Given the description of an element on the screen output the (x, y) to click on. 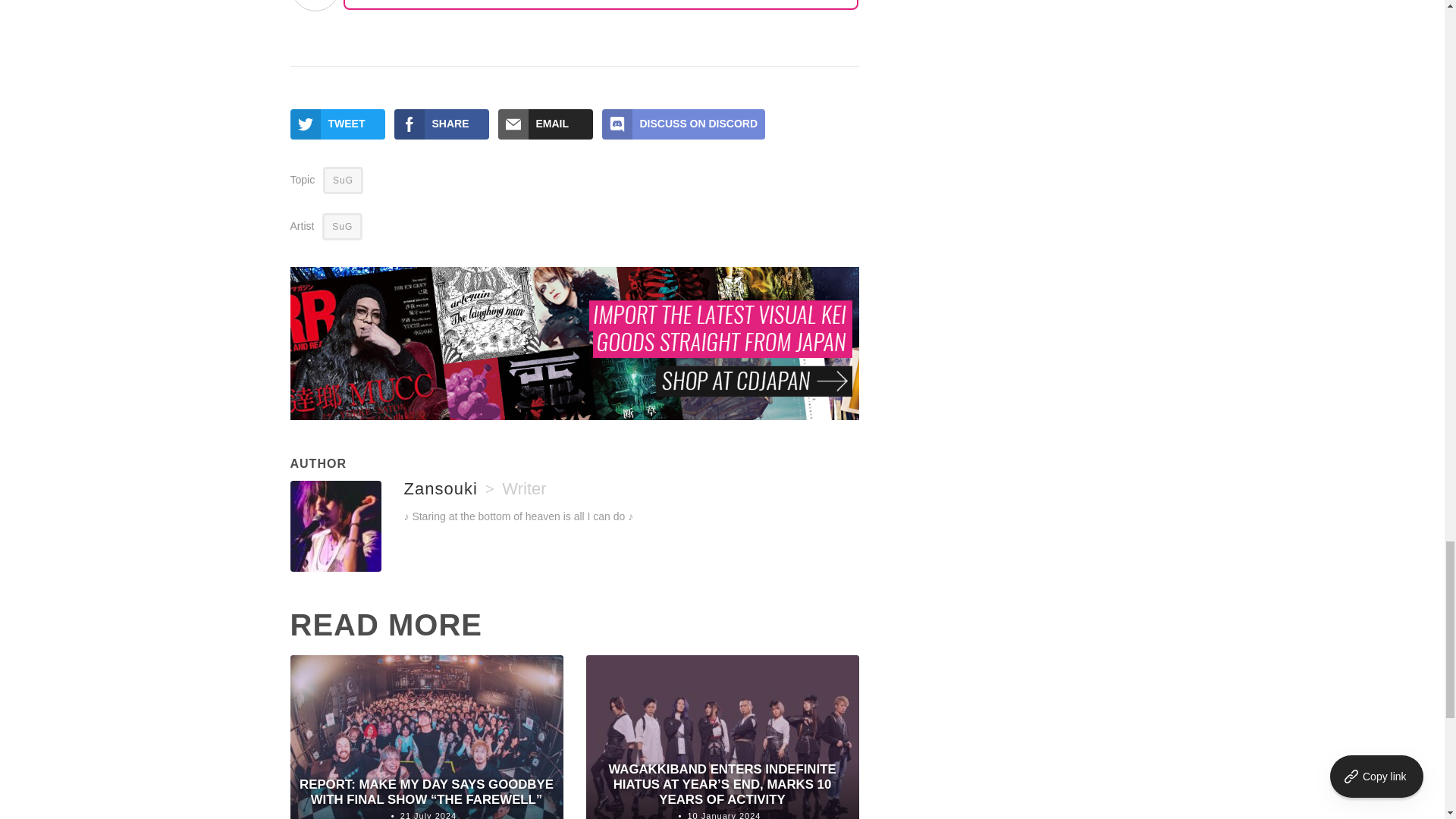
Tweet it (336, 124)
Discuss on discord (683, 124)
Share on Facebook (441, 124)
Share via e-mail (544, 124)
